Given the description of an element on the screen output the (x, y) to click on. 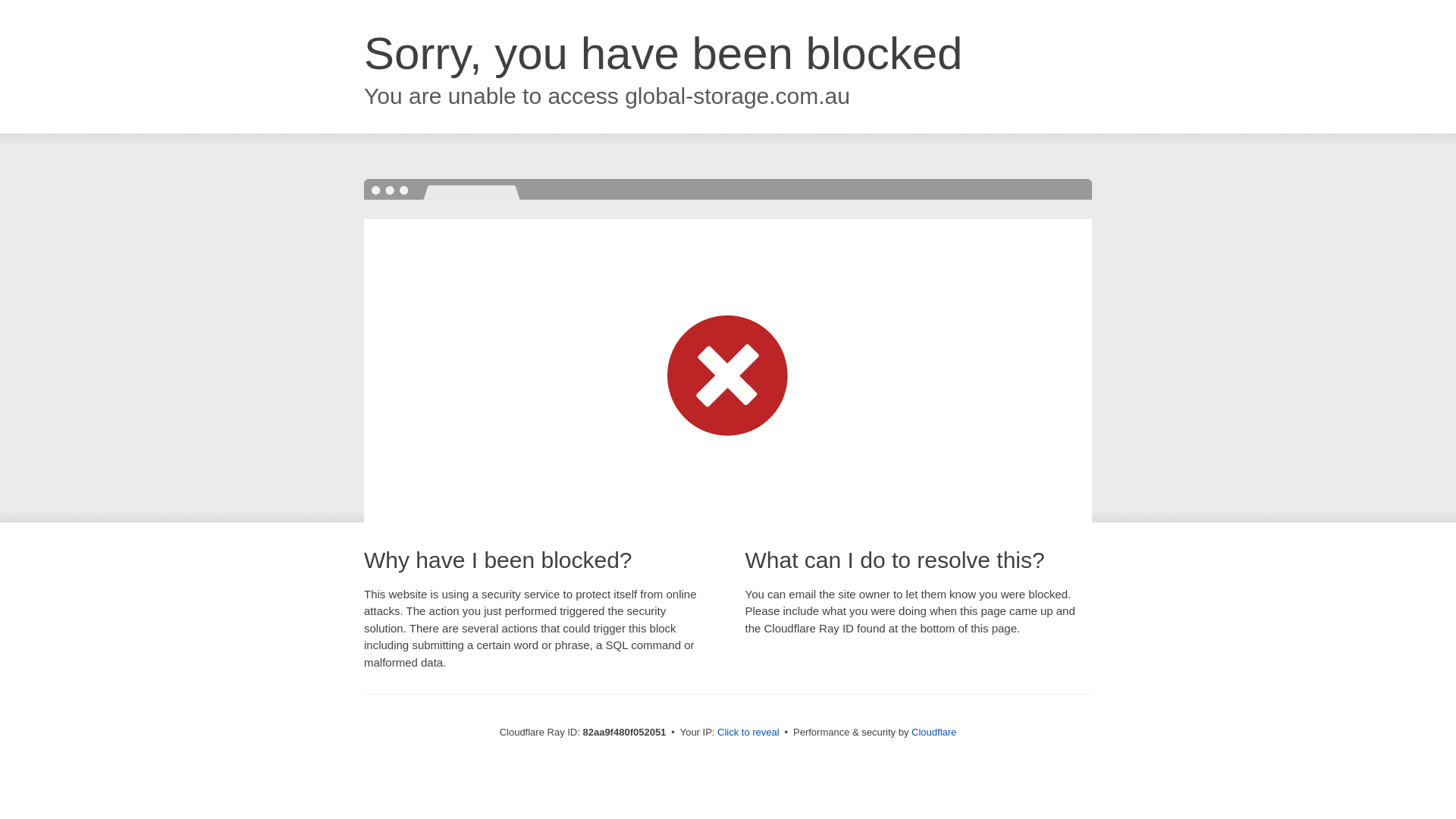
Click to reveal Element type: text (748, 732)
Cloudflare Element type: text (933, 731)
